Given the description of an element on the screen output the (x, y) to click on. 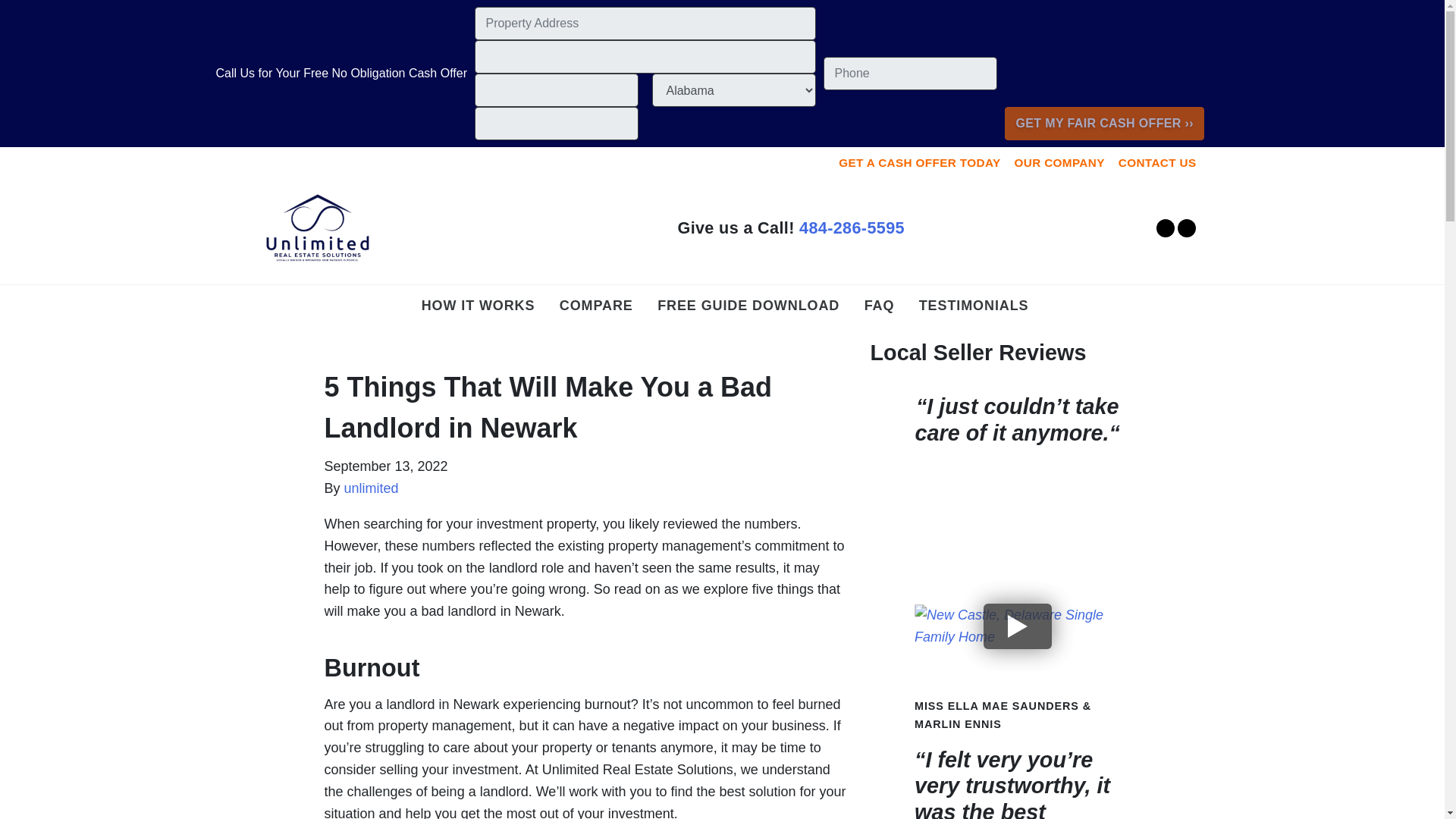
How It Works (477, 305)
GET A CASH OFFER TODAY (919, 163)
FAQ (879, 305)
COMPARE (596, 305)
Facebook (1165, 228)
unlimited (370, 488)
Testimonials (973, 305)
TESTIMONIALS (973, 305)
FAQ (879, 305)
YouTube (1186, 228)
